Given the description of an element on the screen output the (x, y) to click on. 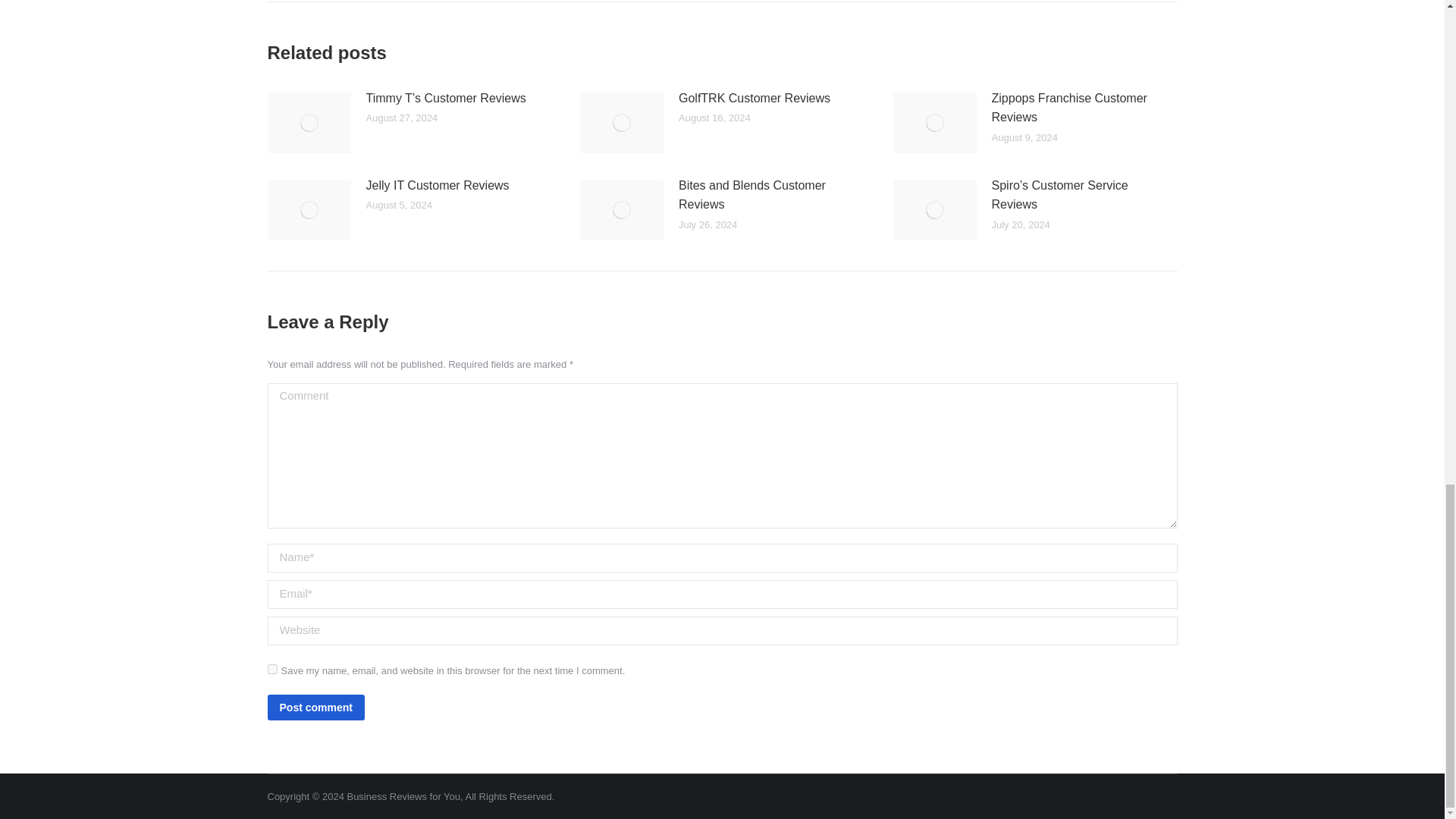
Zippops Franchise Customer Reviews (1080, 107)
GolfTRK Customer Reviews (753, 98)
Post comment (315, 707)
Jelly IT Customer Reviews (436, 184)
yes (271, 669)
Bites and Blends Customer Reviews (767, 194)
